Given the description of an element on the screen output the (x, y) to click on. 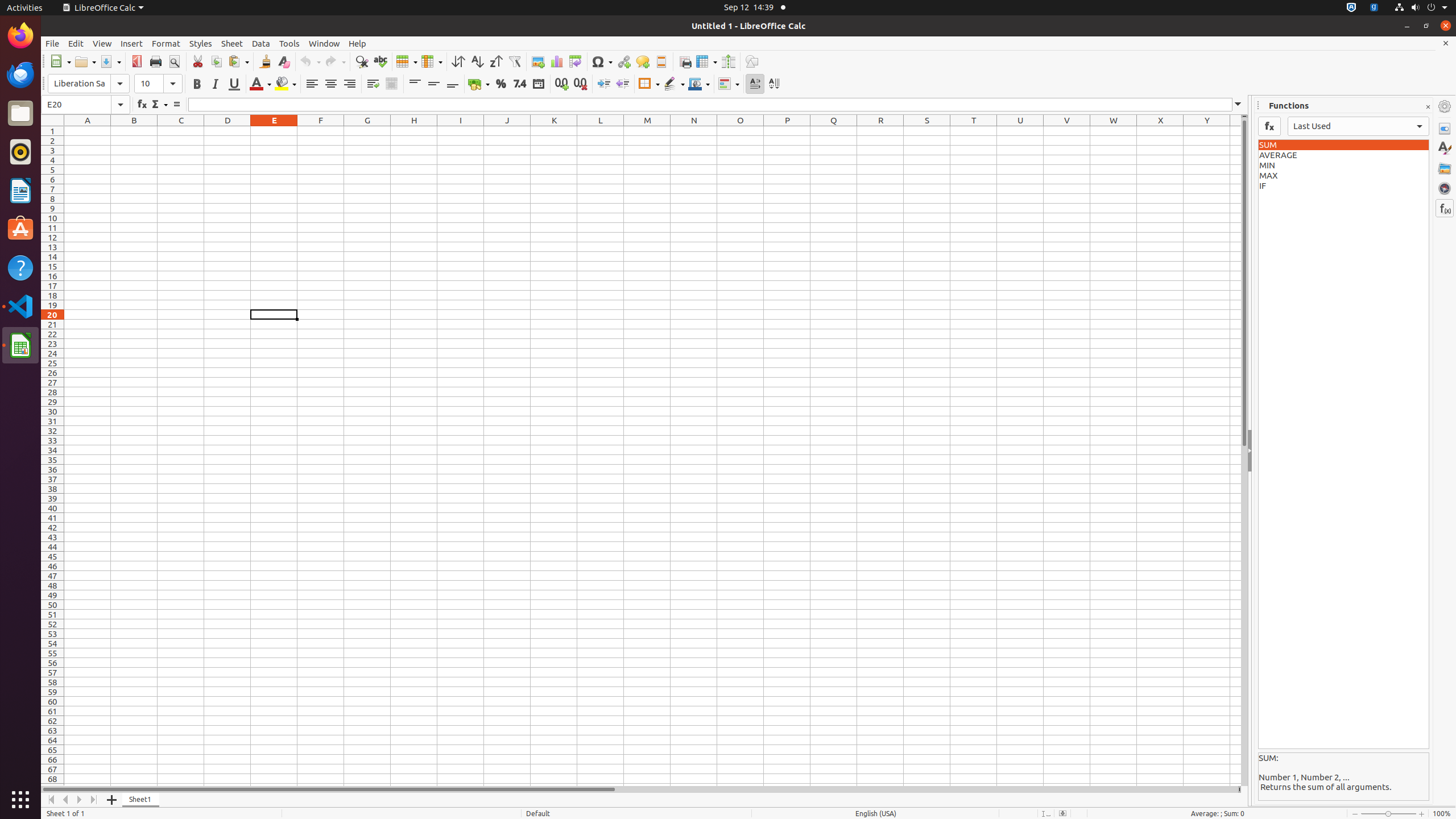
O1 Element type: table-cell (740, 130)
